Given the description of an element on the screen output the (x, y) to click on. 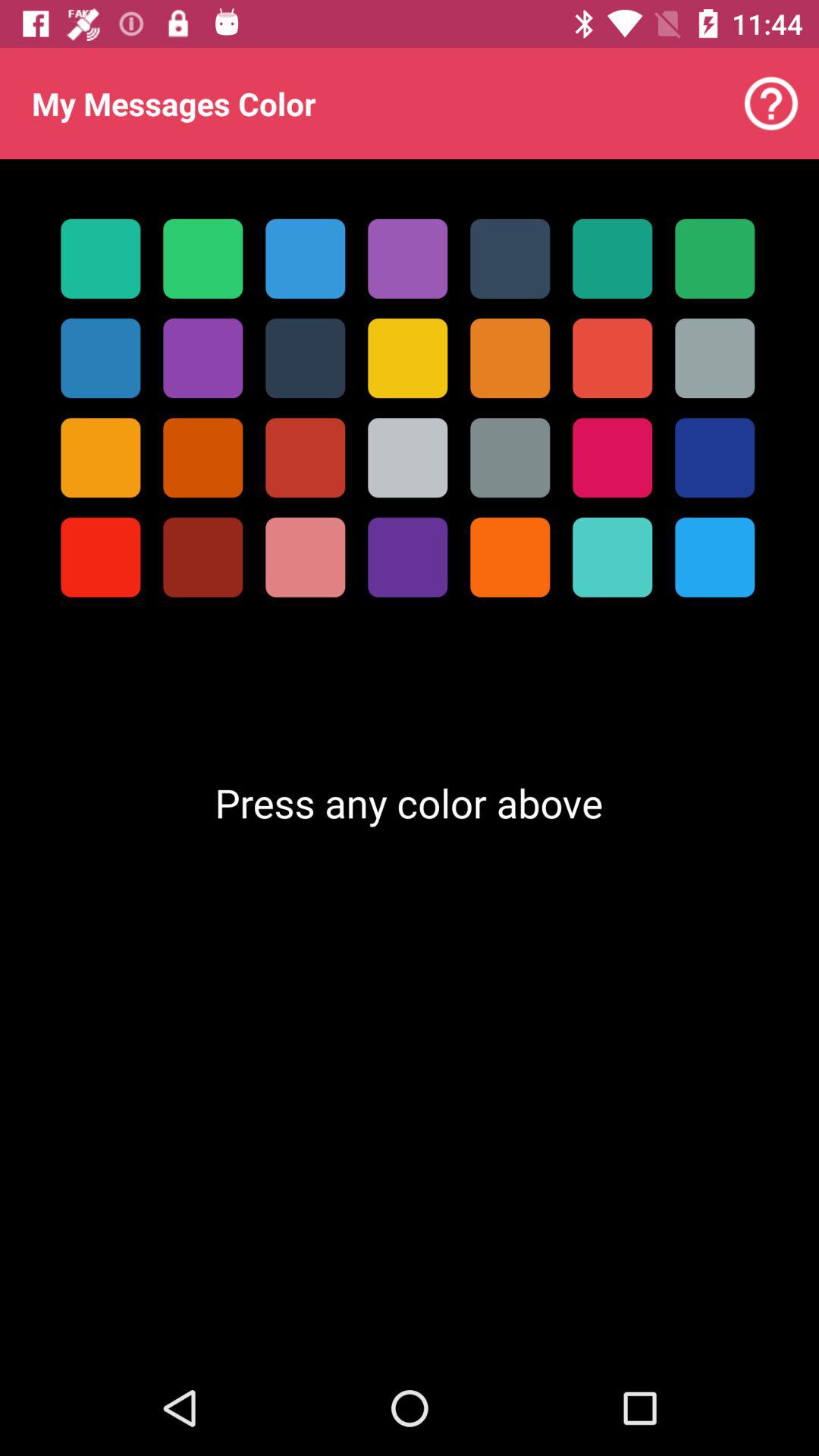
choose icon to the right of the my messages color (771, 103)
